Given the description of an element on the screen output the (x, y) to click on. 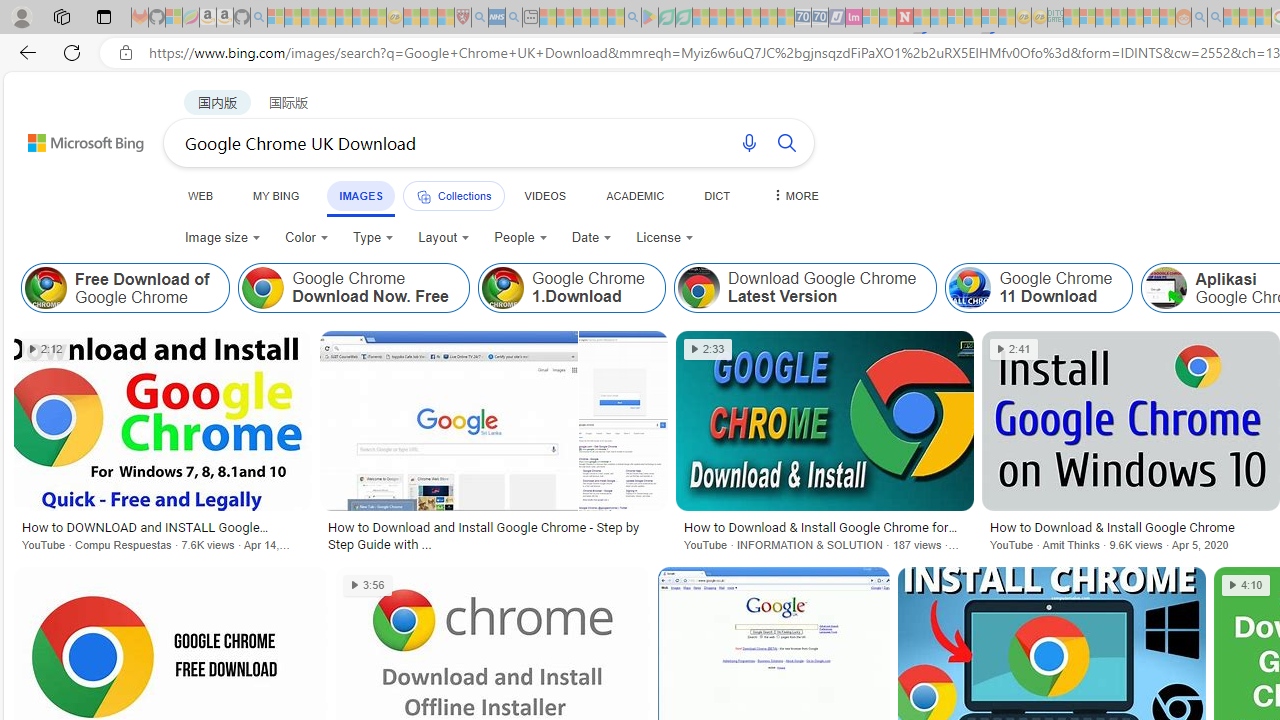
Google Chrome 1.Download (571, 287)
Aplikasi Google Chrome Download (1166, 287)
Type (373, 237)
Dropdown Menu (793, 195)
Type (372, 237)
